Given the description of an element on the screen output the (x, y) to click on. 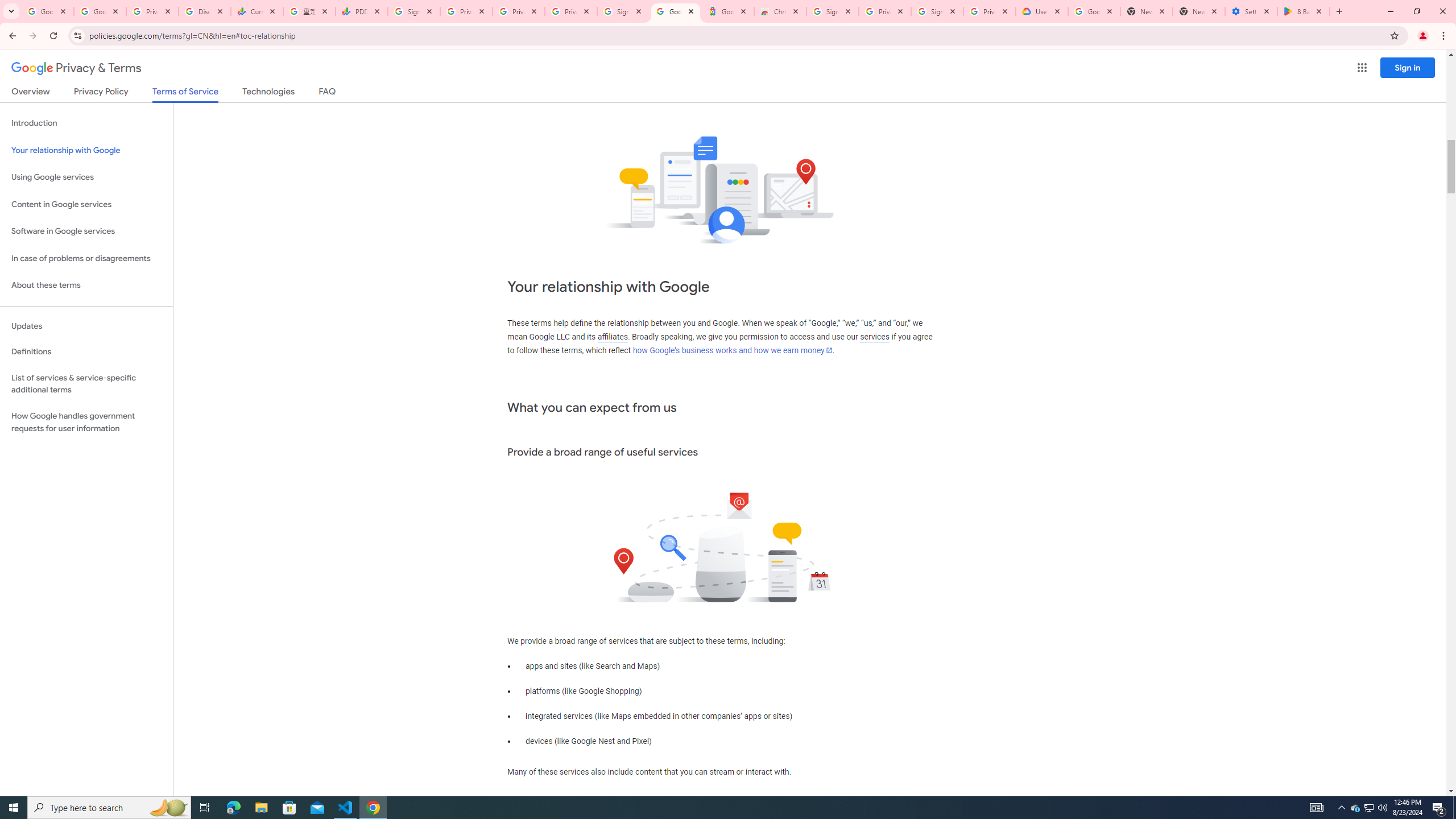
8 Ball Pool - Apps on Google Play (1303, 11)
List of services & service-specific additional terms (86, 383)
Currencies - Google Finance (256, 11)
services (874, 336)
In case of problems or disagreements (86, 258)
Google Workspace Admin Community (47, 11)
Chrome Web Store - Color themes by Chrome (779, 11)
